Given the description of an element on the screen output the (x, y) to click on. 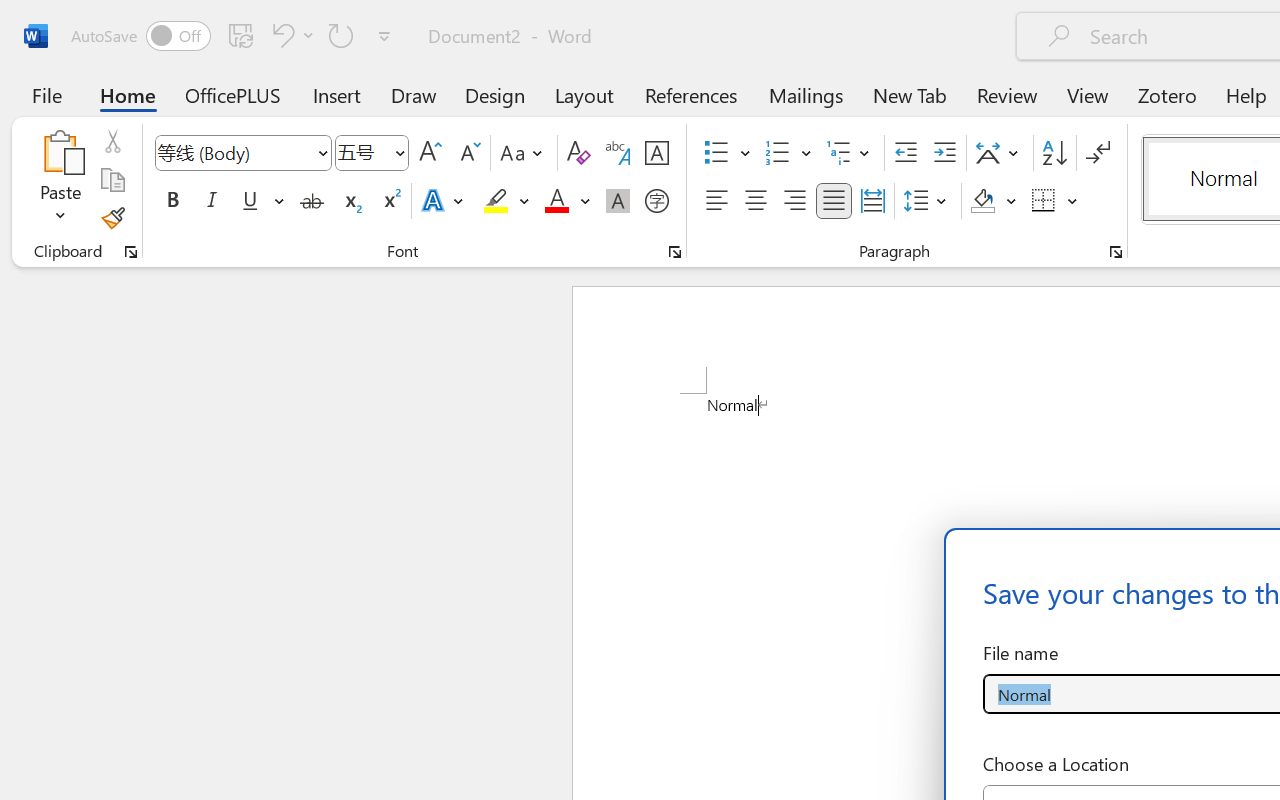
Center (756, 201)
Cut (112, 141)
Customize Quick Access Toolbar (384, 35)
OfficePLUS (233, 94)
Bullets (716, 153)
Decrease Indent (906, 153)
Show/Hide Editing Marks (1098, 153)
Zotero (1166, 94)
Font Color (567, 201)
Paste (60, 179)
Text Effects and Typography (444, 201)
Shading RGB(0, 0, 0) (982, 201)
Text Highlight Color (506, 201)
Subscript (350, 201)
Font... (675, 252)
